Given the description of an element on the screen output the (x, y) to click on. 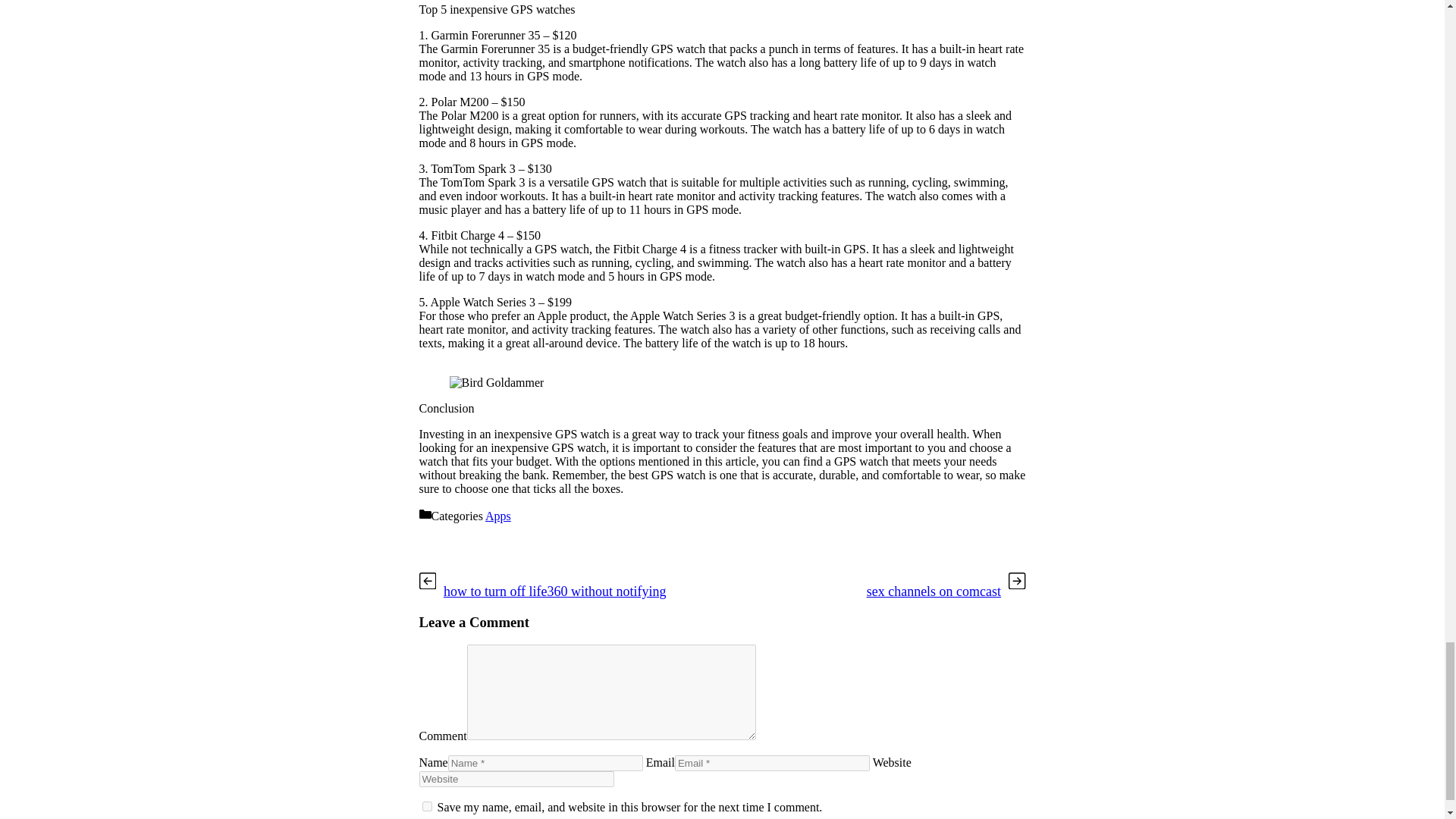
yes (426, 806)
Bird Goldammer (495, 382)
Apps (497, 515)
sex channels on comcast (933, 590)
how to turn off life360 without notifying (555, 590)
